Given the description of an element on the screen output the (x, y) to click on. 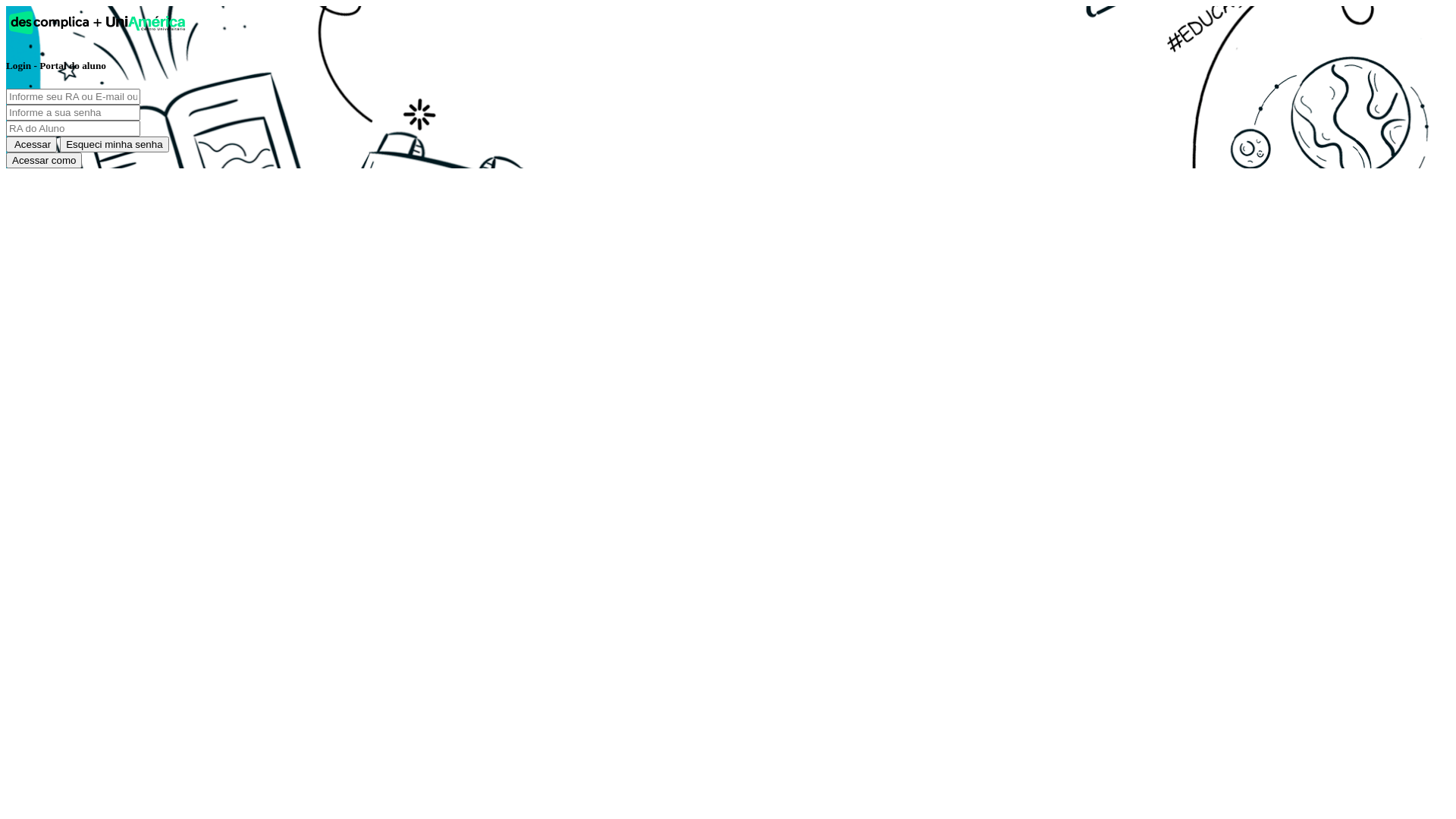
 Acessar Element type: text (31, 144)
Esqueci minha senha Element type: text (113, 144)
Acessar como Element type: text (43, 160)
